Given the description of an element on the screen output the (x, y) to click on. 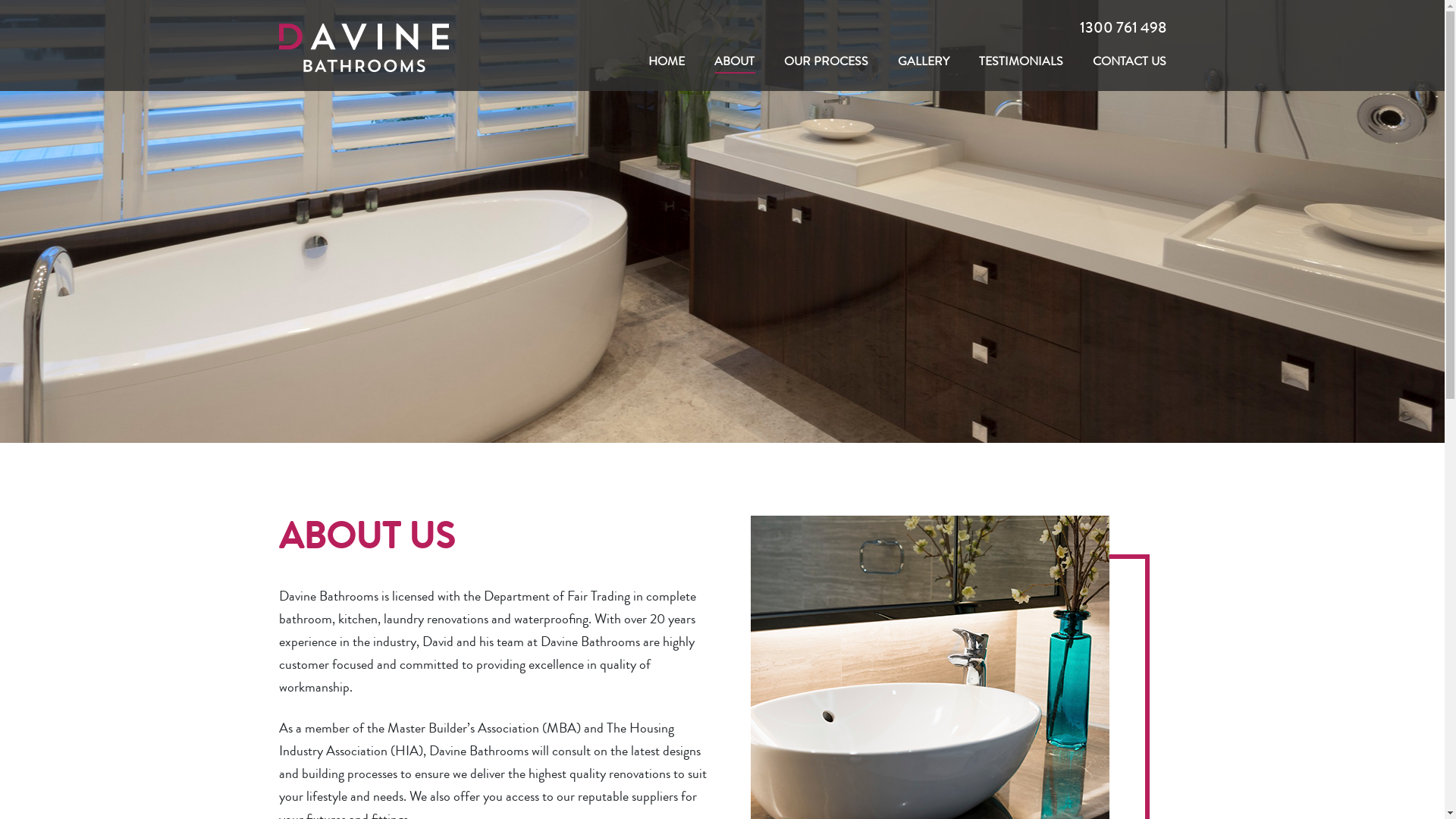
CONTACT US Element type: text (1128, 62)
TESTIMONIALS Element type: text (1020, 62)
HOME Element type: text (665, 62)
OUR PROCESS Element type: text (826, 62)
ABOUT Element type: text (734, 62)
GALLERY Element type: text (923, 62)
